Given the description of an element on the screen output the (x, y) to click on. 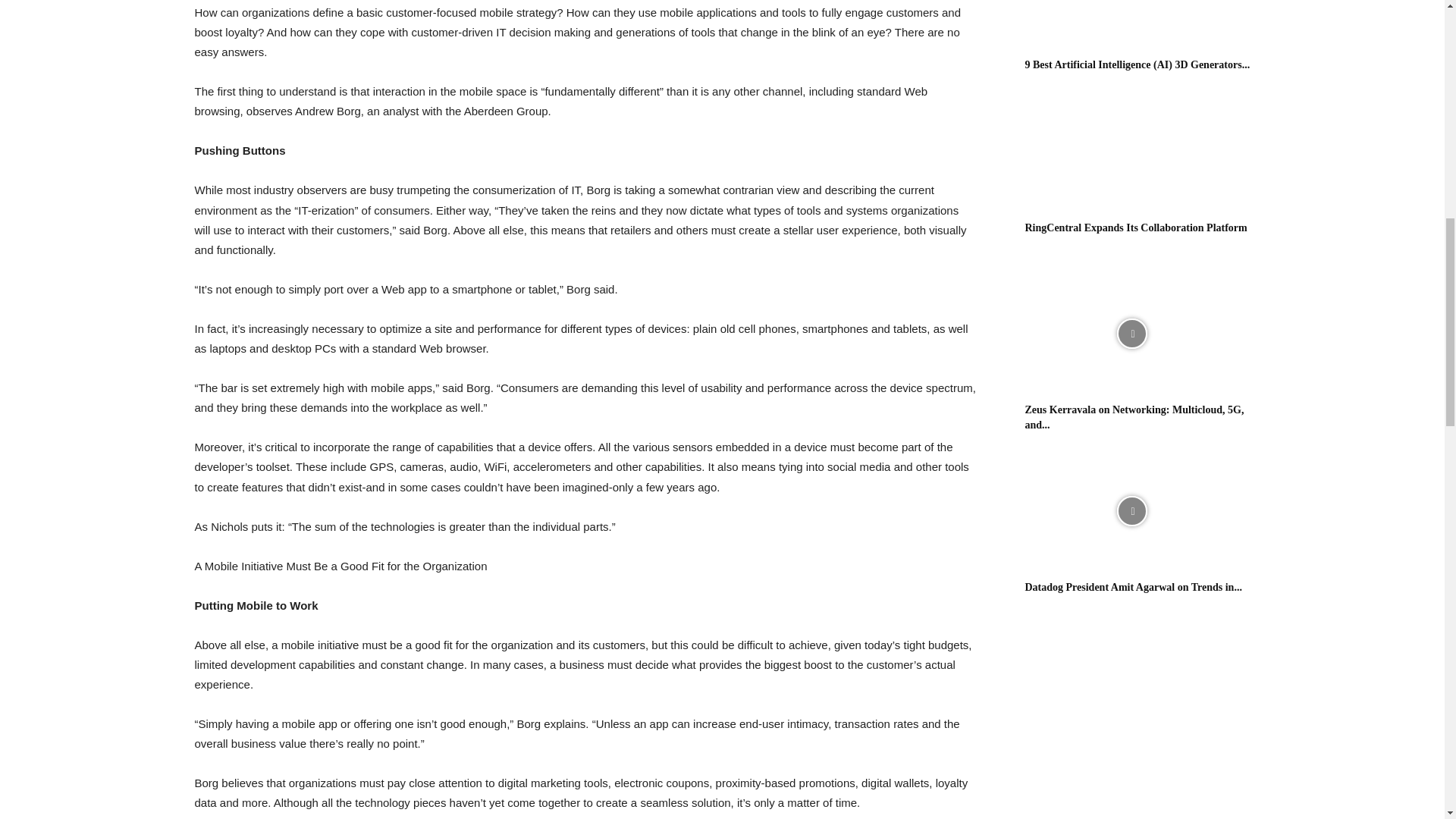
Zeus Kerravala on Networking: Multicloud, 5G, and Automation (1134, 417)
Zeus Kerravala on Networking: Multicloud, 5G, and Automation (1131, 333)
RingCentral Expands Its Collaboration Platform (1131, 151)
RingCentral Expands Its Collaboration Platform (1136, 227)
